Given the description of an element on the screen output the (x, y) to click on. 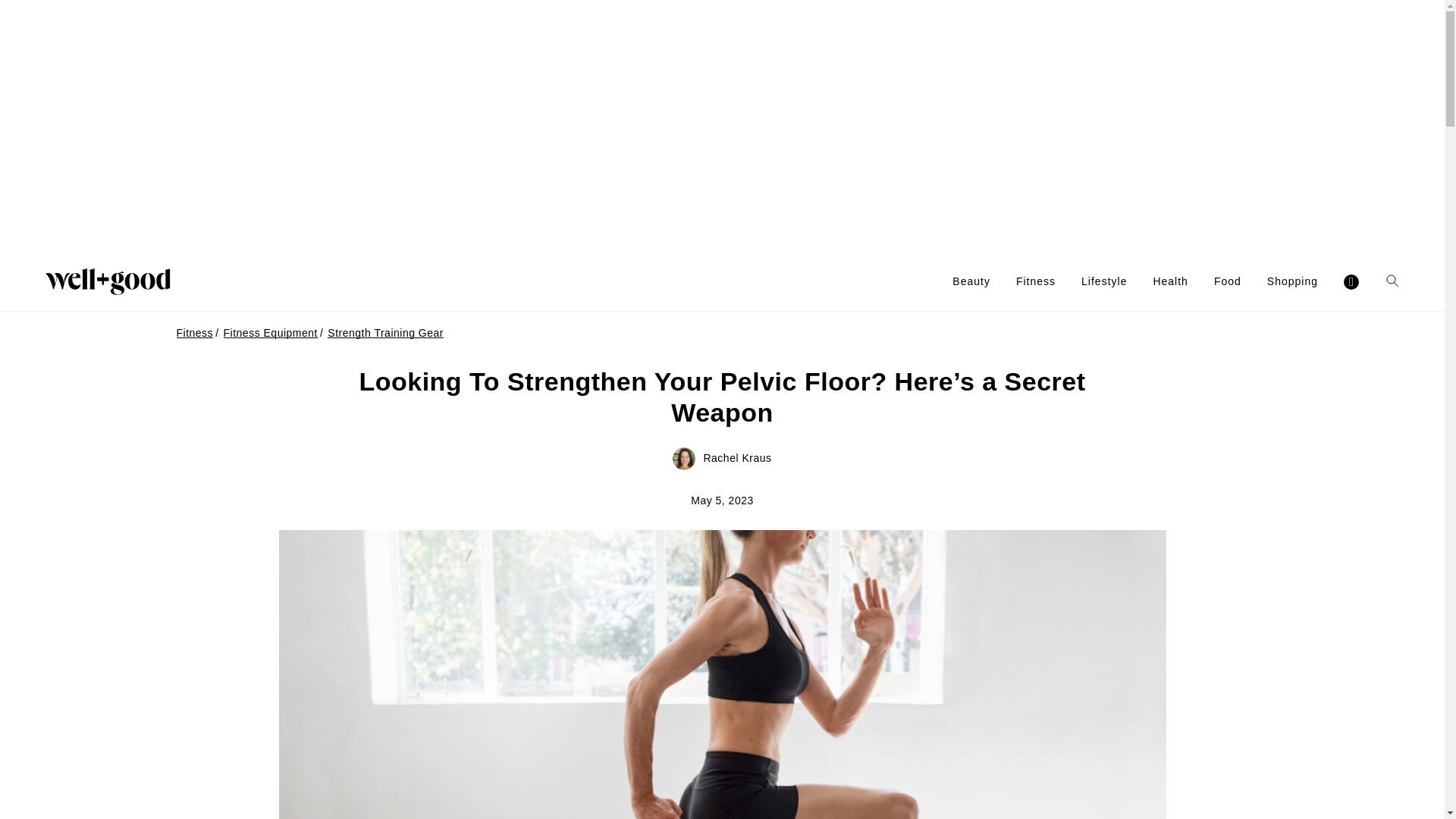
Shopping (1291, 281)
Beauty (971, 281)
Food (1227, 281)
Health (1170, 281)
Fitness (1035, 281)
Lifestyle (1103, 281)
